Given the description of an element on the screen output the (x, y) to click on. 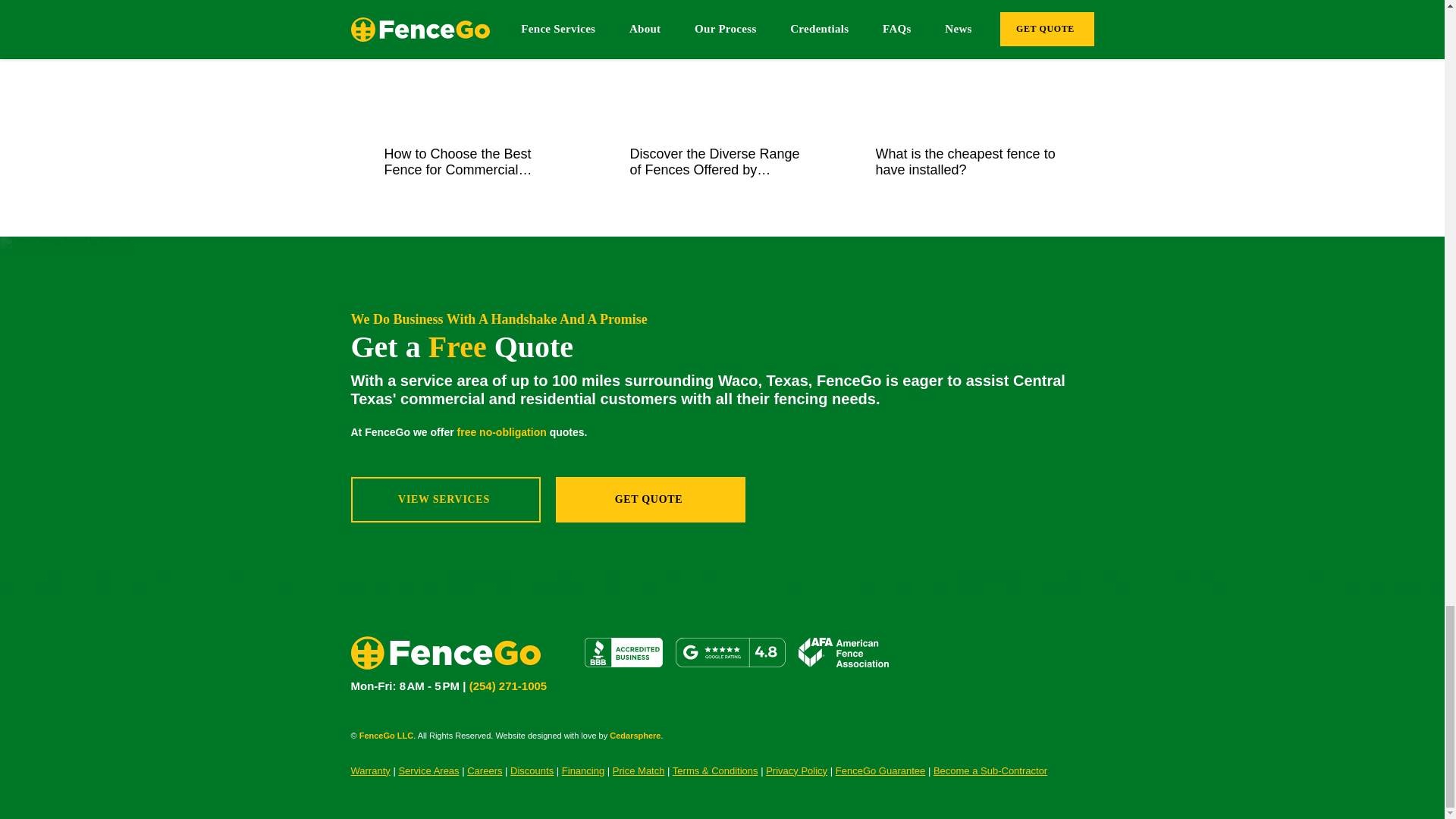
GET QUOTE (649, 499)
VIEW SERVICES (445, 499)
What is the cheapest fence to have installed? (966, 162)
